Given the description of an element on the screen output the (x, y) to click on. 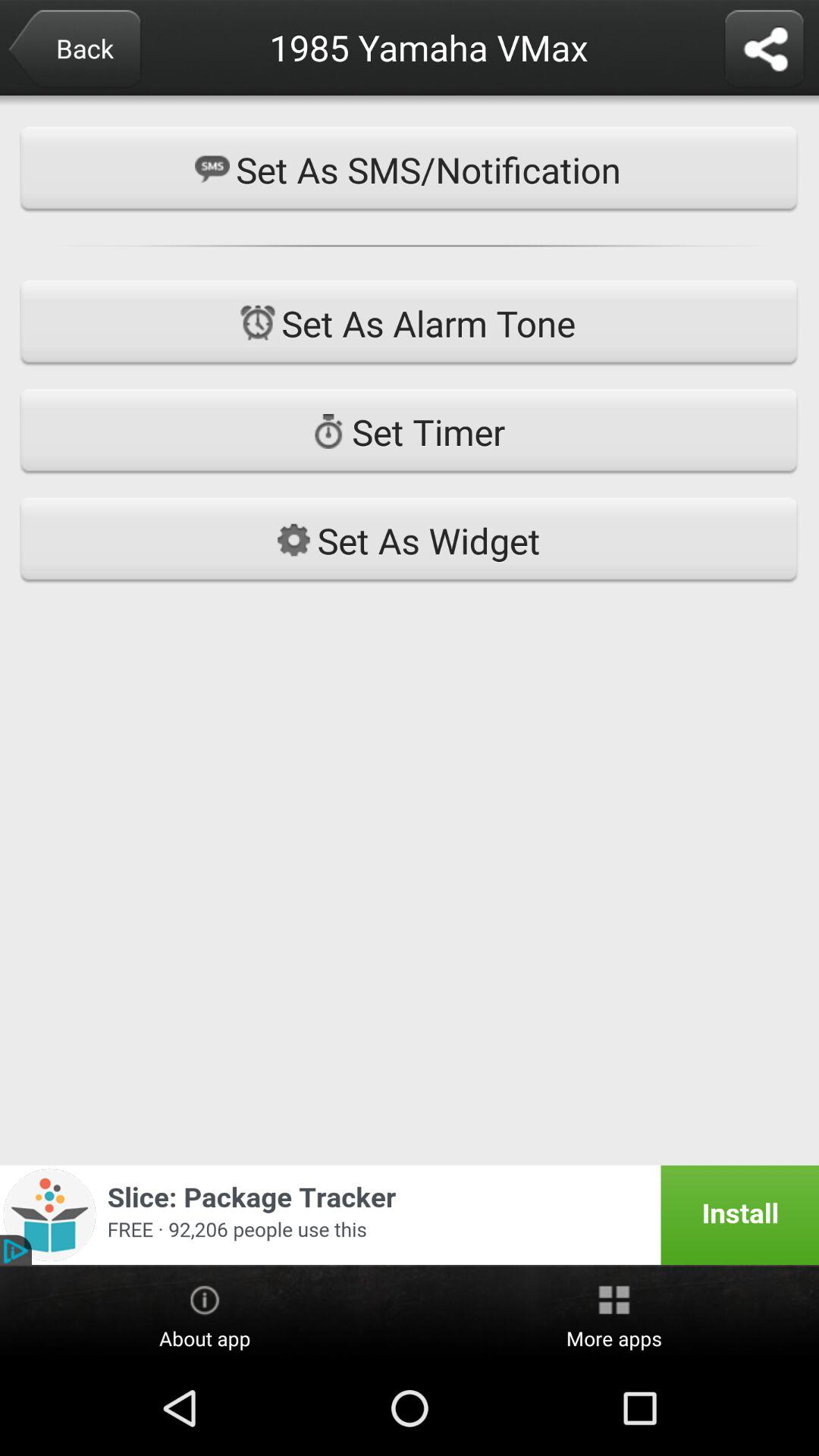
choose the icon above about app (409, 1214)
